Given the description of an element on the screen output the (x, y) to click on. 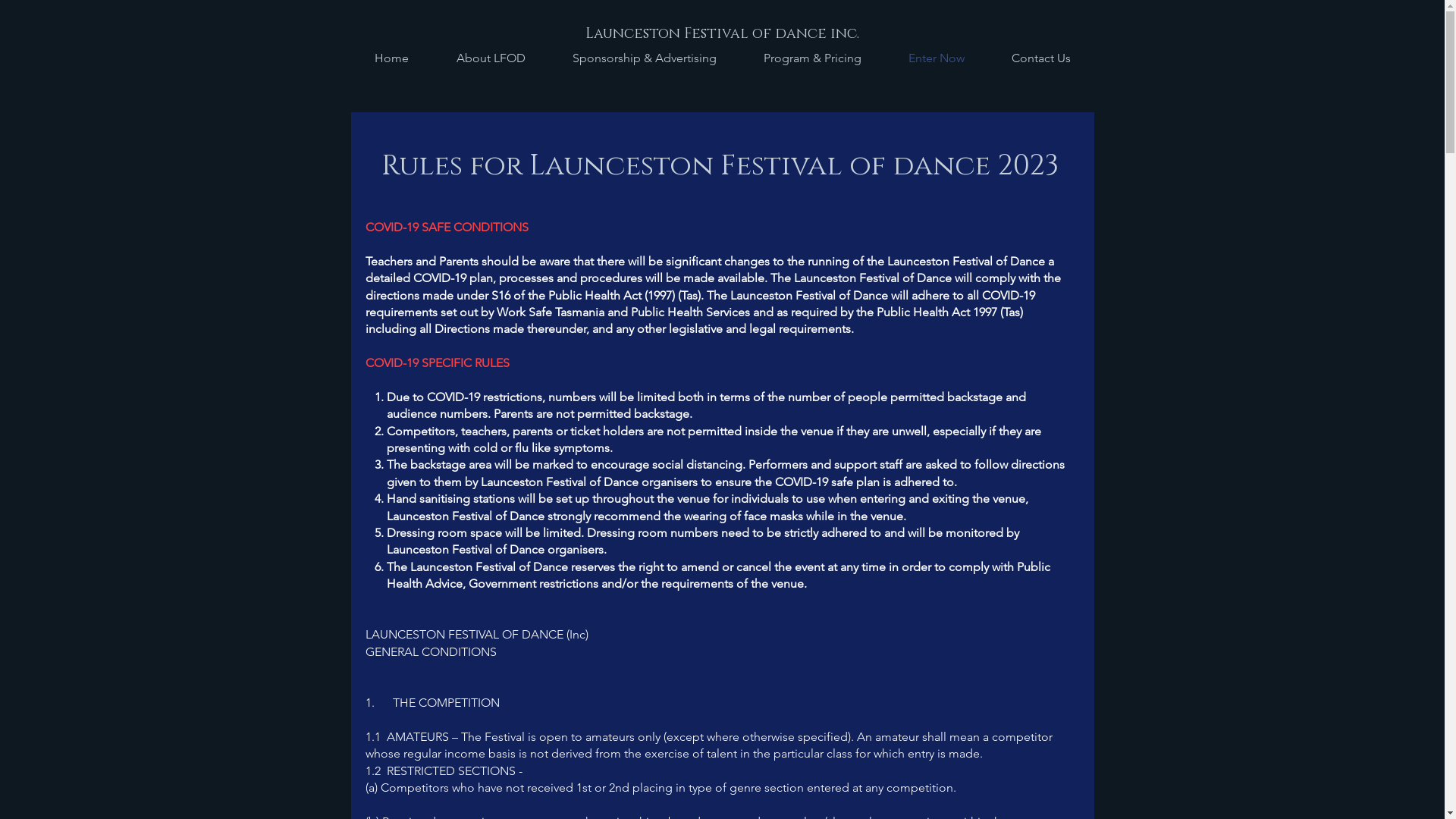
Sponsorship & Advertising Element type: text (644, 58)
Home Element type: text (391, 58)
About LFOD Element type: text (490, 58)
Launceston Festival of dance inc. Element type: text (722, 34)
Contact Us Element type: text (1040, 58)
Program & Pricing Element type: text (812, 58)
Enter Now Element type: text (935, 58)
